Given the description of an element on the screen output the (x, y) to click on. 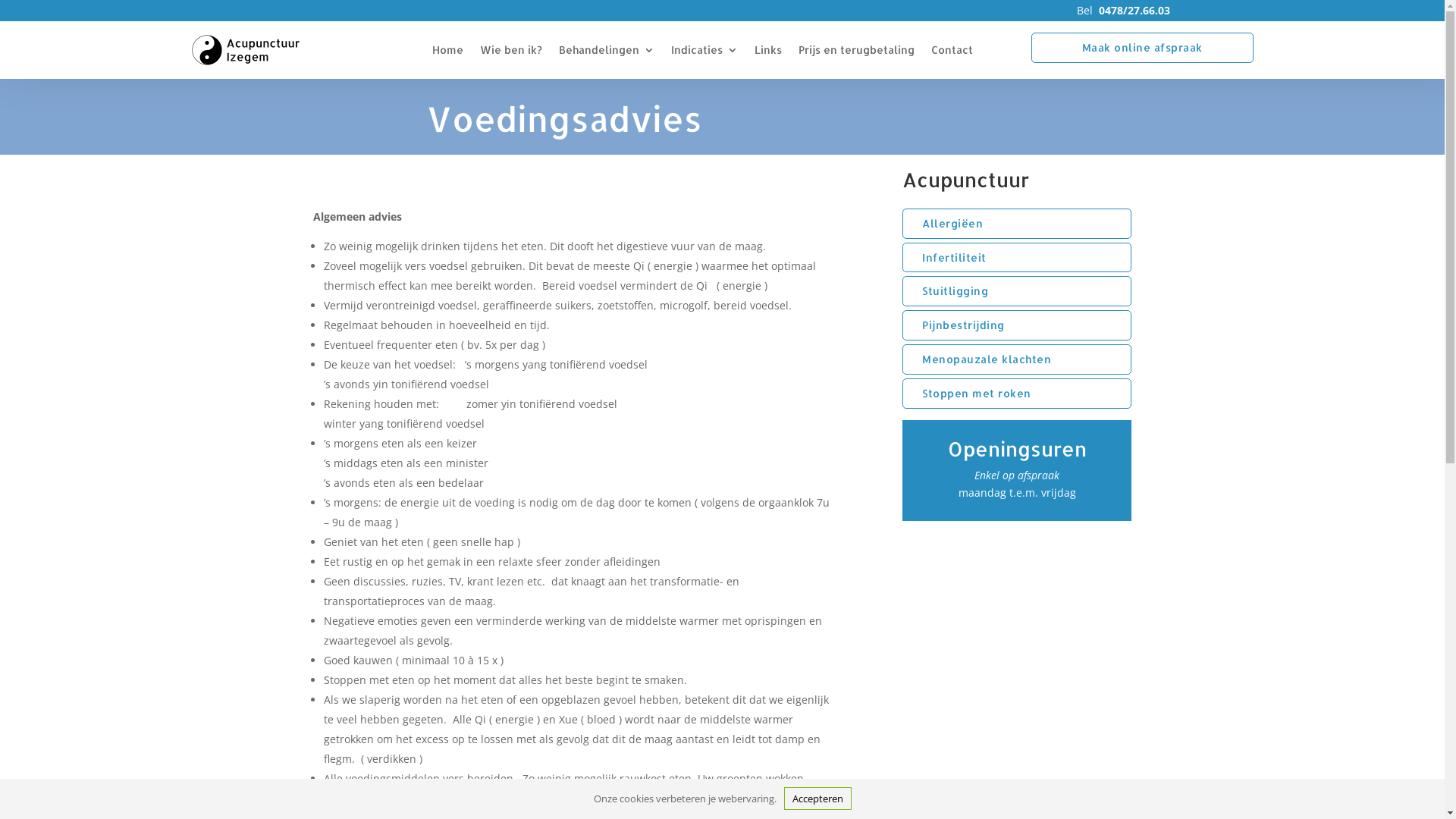
Links Element type: text (767, 49)
Infertiliteit Element type: text (1016, 257)
Home Element type: text (447, 49)
Accepteren Element type: text (817, 798)
0478/27.66.03 Element type: text (1133, 10)
Pijnbestrijding Element type: text (1016, 325)
Behandelingen Element type: text (606, 49)
Indicaties Element type: text (704, 49)
Maak online afspraak Element type: text (1141, 47)
Stoppen met roken Element type: text (1016, 393)
Prijs en terugbetaling Element type: text (856, 49)
Menopauzale klachten Element type: text (1016, 359)
Wie ben ik? Element type: text (511, 49)
Stuitligging Element type: text (1016, 291)
Contact Element type: text (951, 49)
